Given the description of an element on the screen output the (x, y) to click on. 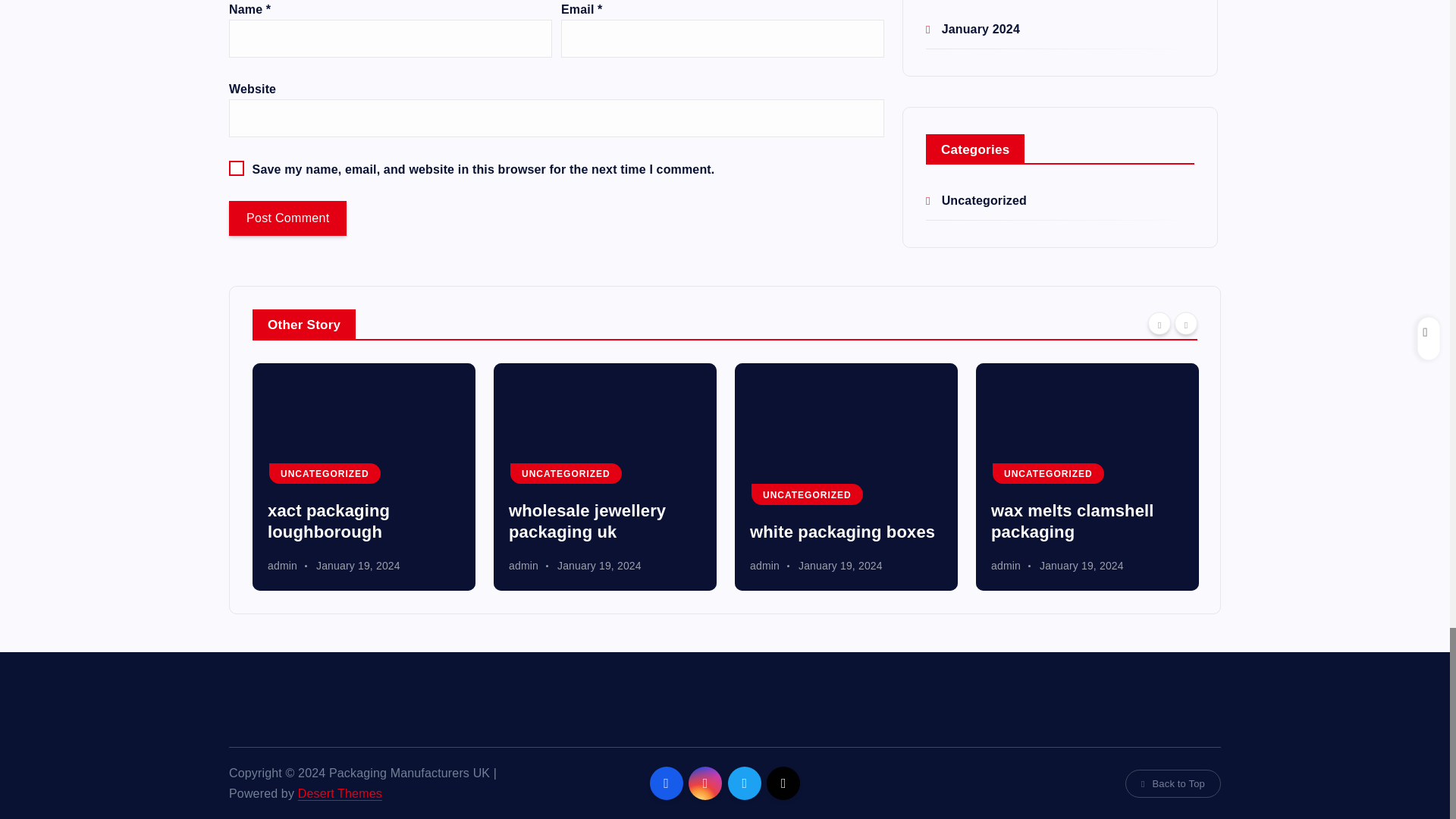
Post Comment (287, 217)
yes (236, 168)
Post Comment (287, 217)
